Given the description of an element on the screen output the (x, y) to click on. 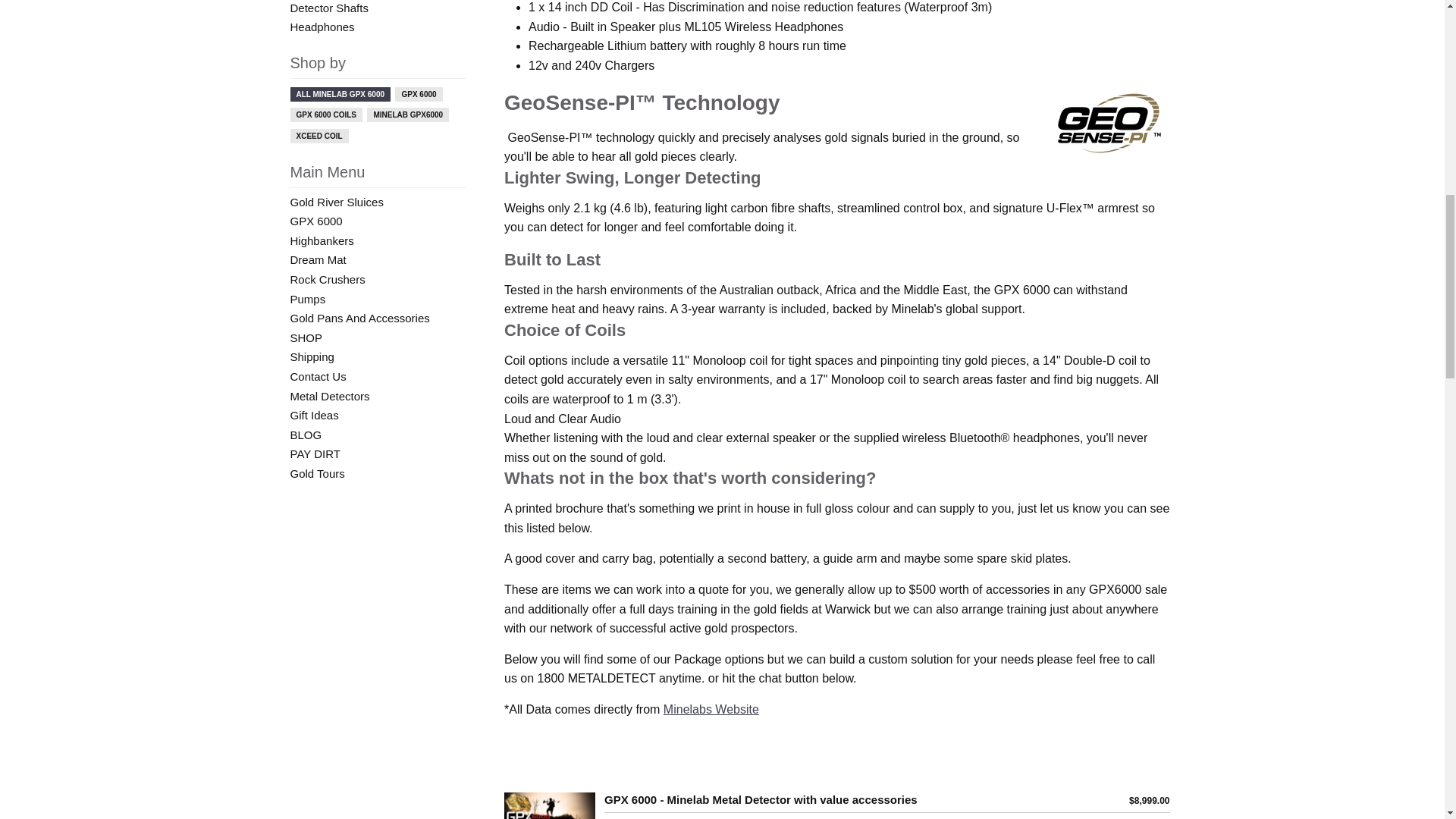
Narrow selection to products matching tag GPX 6000 (418, 93)
Narrow selection to products matching tag Minelab GPX6000 (407, 114)
Narrow selection to products matching tag XCEED coil (318, 135)
Narrow selection to products matching tag GPX 6000 coils (325, 114)
